Given the description of an element on the screen output the (x, y) to click on. 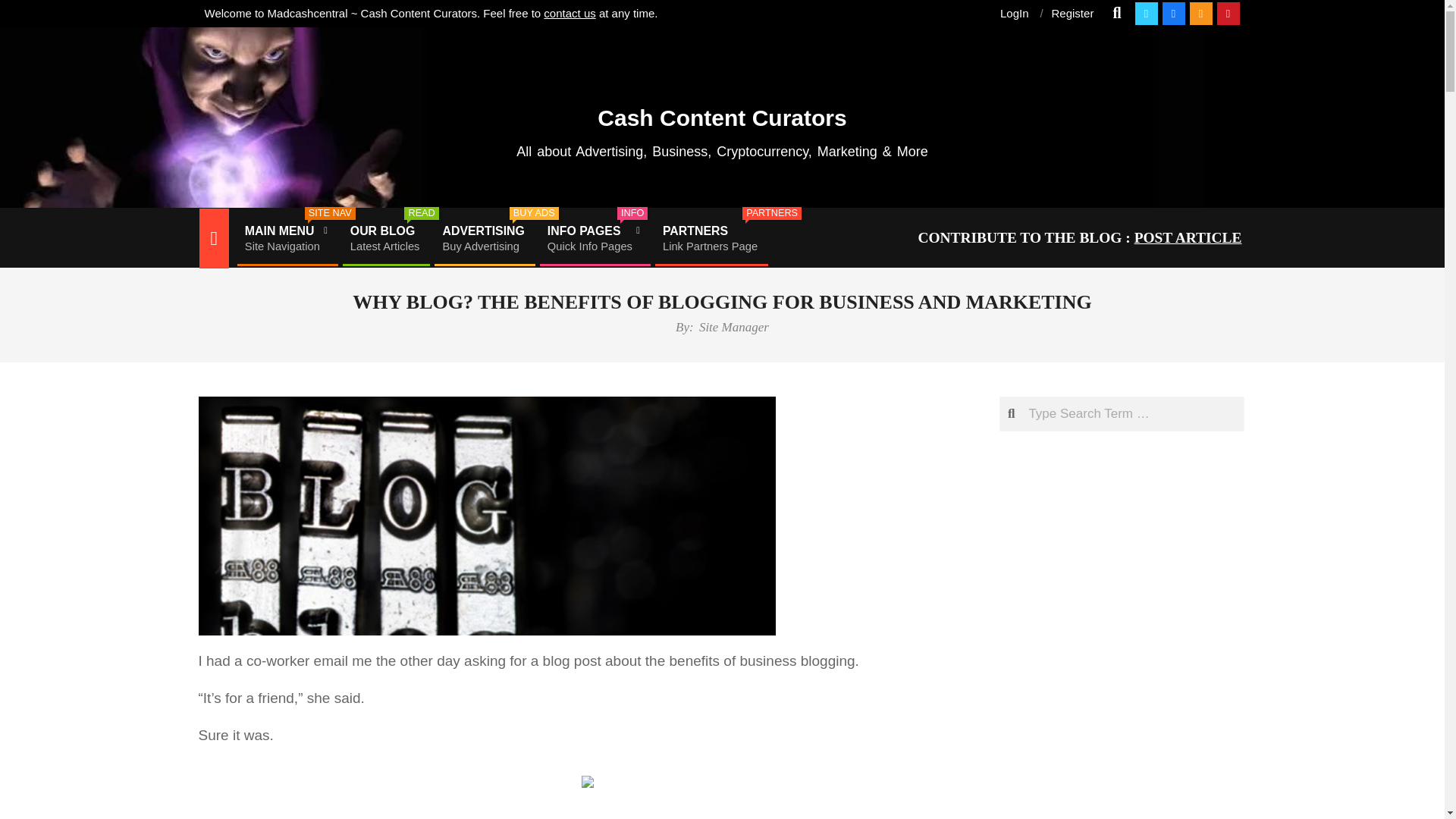
Site Navigation (285, 238)
Quick Info Pages (285, 238)
LogIn (482, 238)
Register (592, 238)
contact us (1014, 12)
Posts by Site Manager (592, 238)
Search (1072, 12)
